Given the description of an element on the screen output the (x, y) to click on. 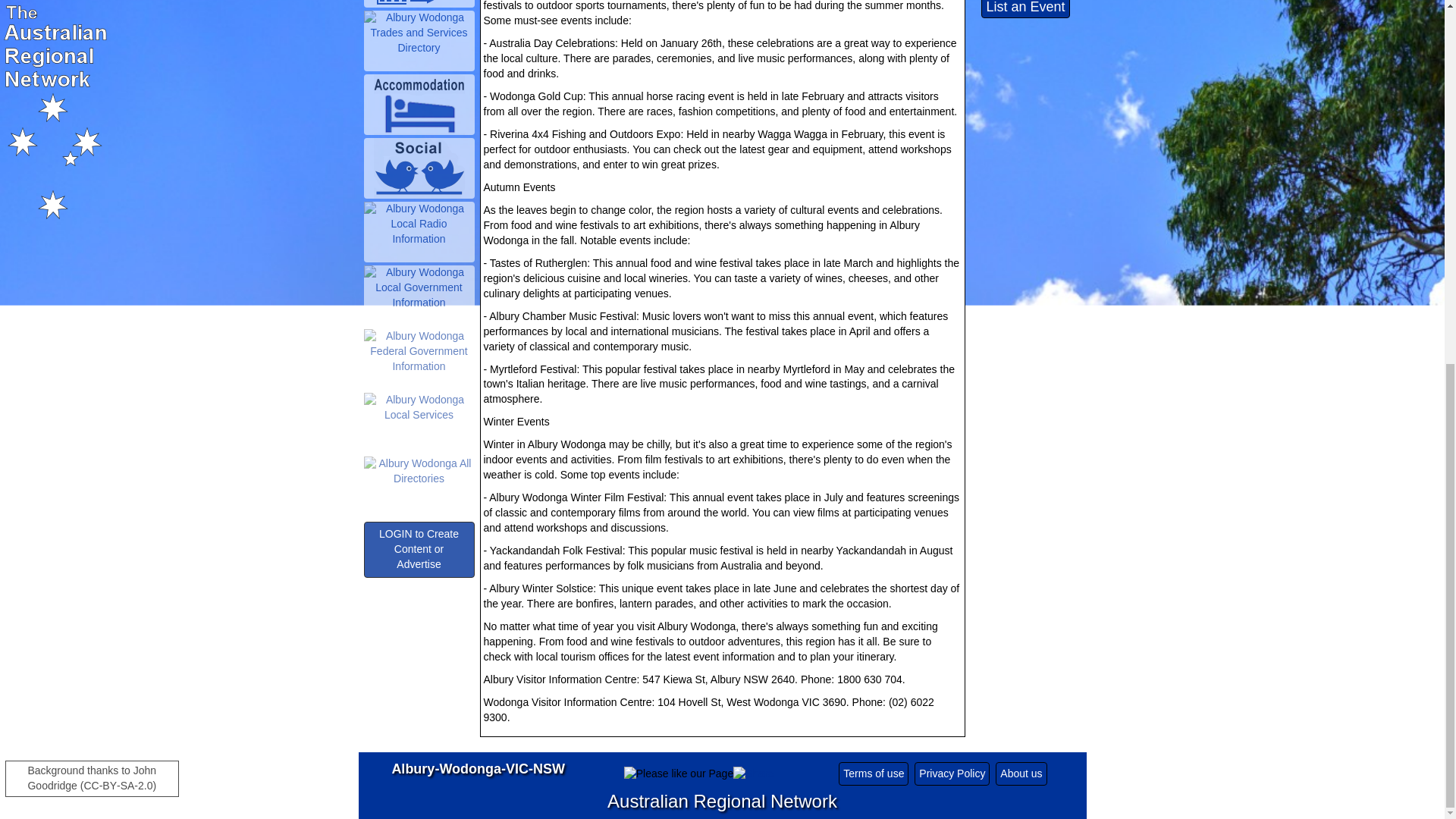
Please like our Page (678, 774)
